Given the description of an element on the screen output the (x, y) to click on. 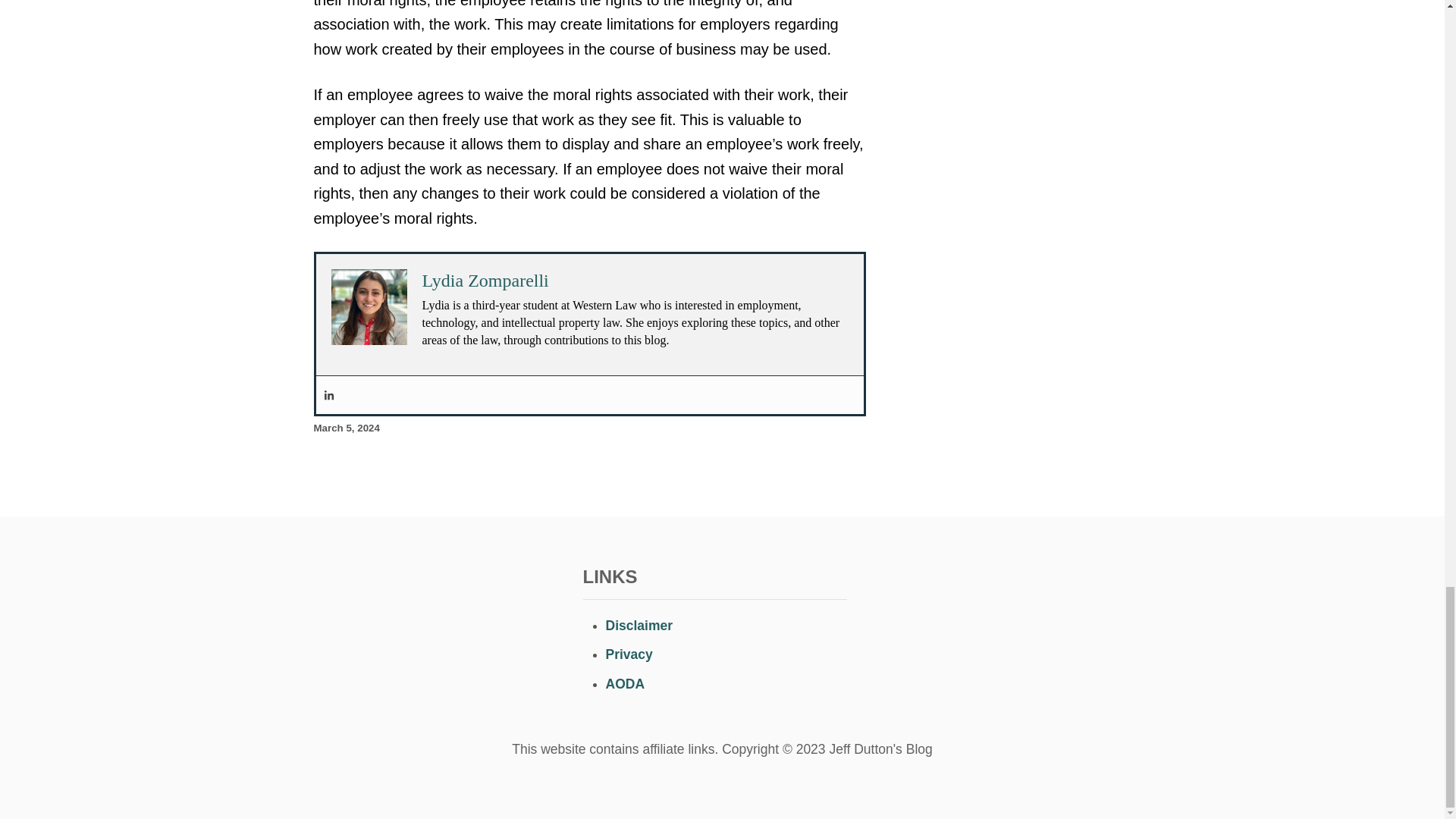
Privacy (628, 654)
Lydia Zomparelli (485, 280)
AODA (625, 683)
Disclaimer (638, 625)
